Given the description of an element on the screen output the (x, y) to click on. 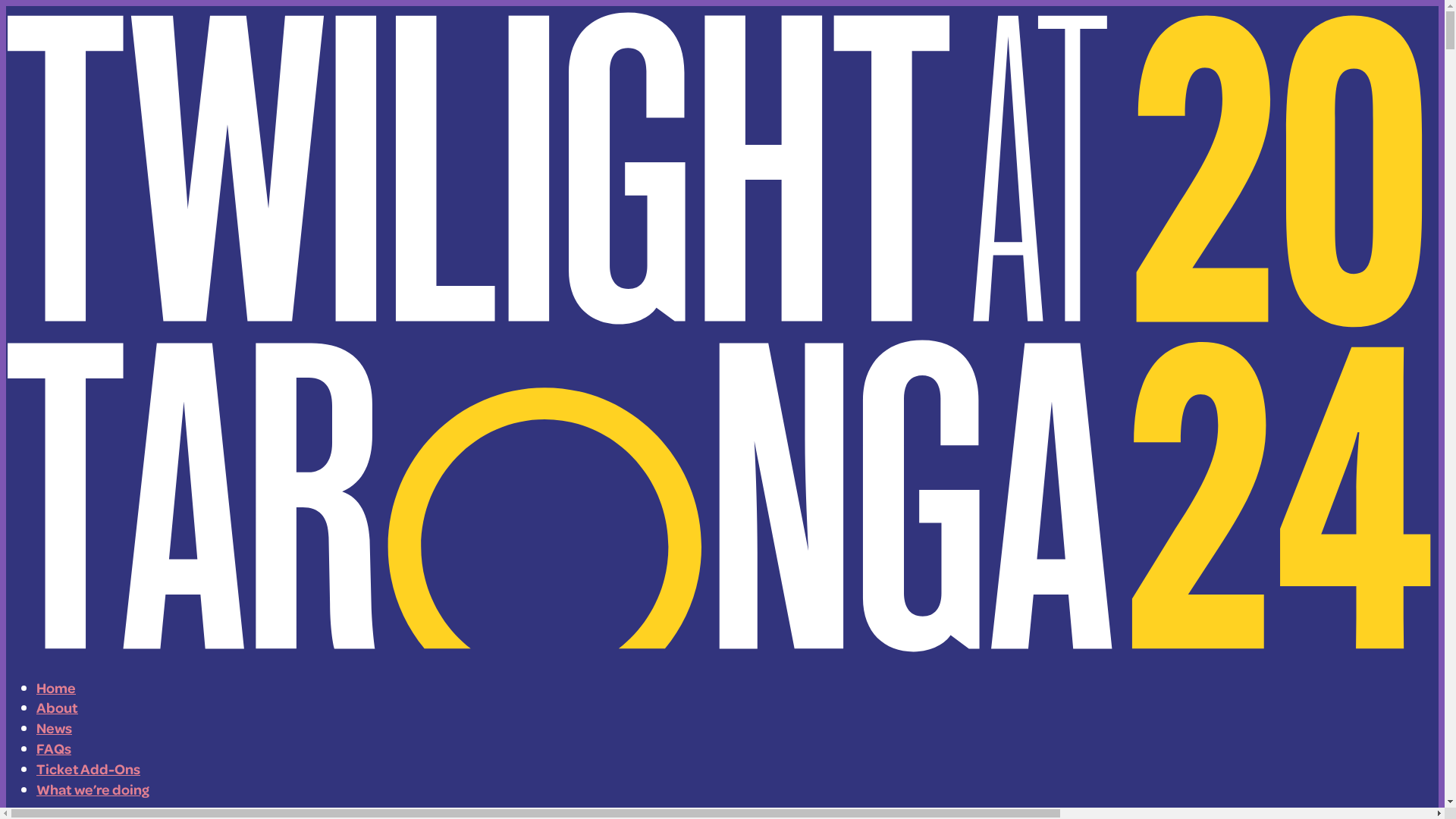
News Element type: text (54, 727)
About Element type: text (57, 707)
Home Element type: text (55, 687)
FAQs Element type: text (53, 748)
Ticket Add-Ons Element type: text (88, 768)
Twilight at Taronga 2024 Summer Concert Series Element type: hover (722, 332)
